Given the description of an element on the screen output the (x, y) to click on. 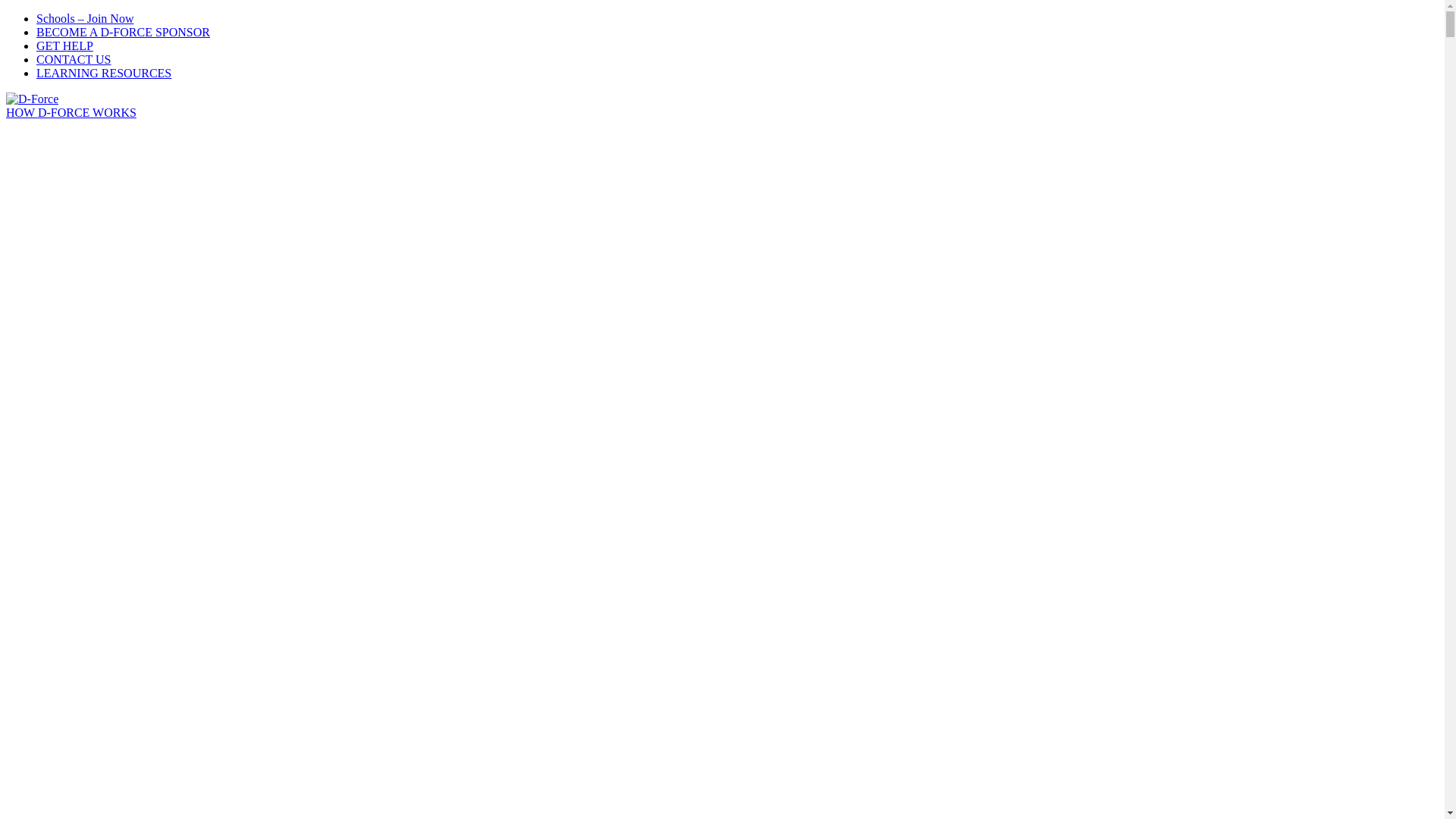
HOW D-FORCE WORKS Element type: text (71, 112)
LEARNING RESOURCES Element type: text (103, 72)
CONTACT US Element type: text (73, 59)
GET HELP Element type: text (64, 45)
BECOME A D-FORCE SPONSOR Element type: text (123, 31)
